Given the description of an element on the screen output the (x, y) to click on. 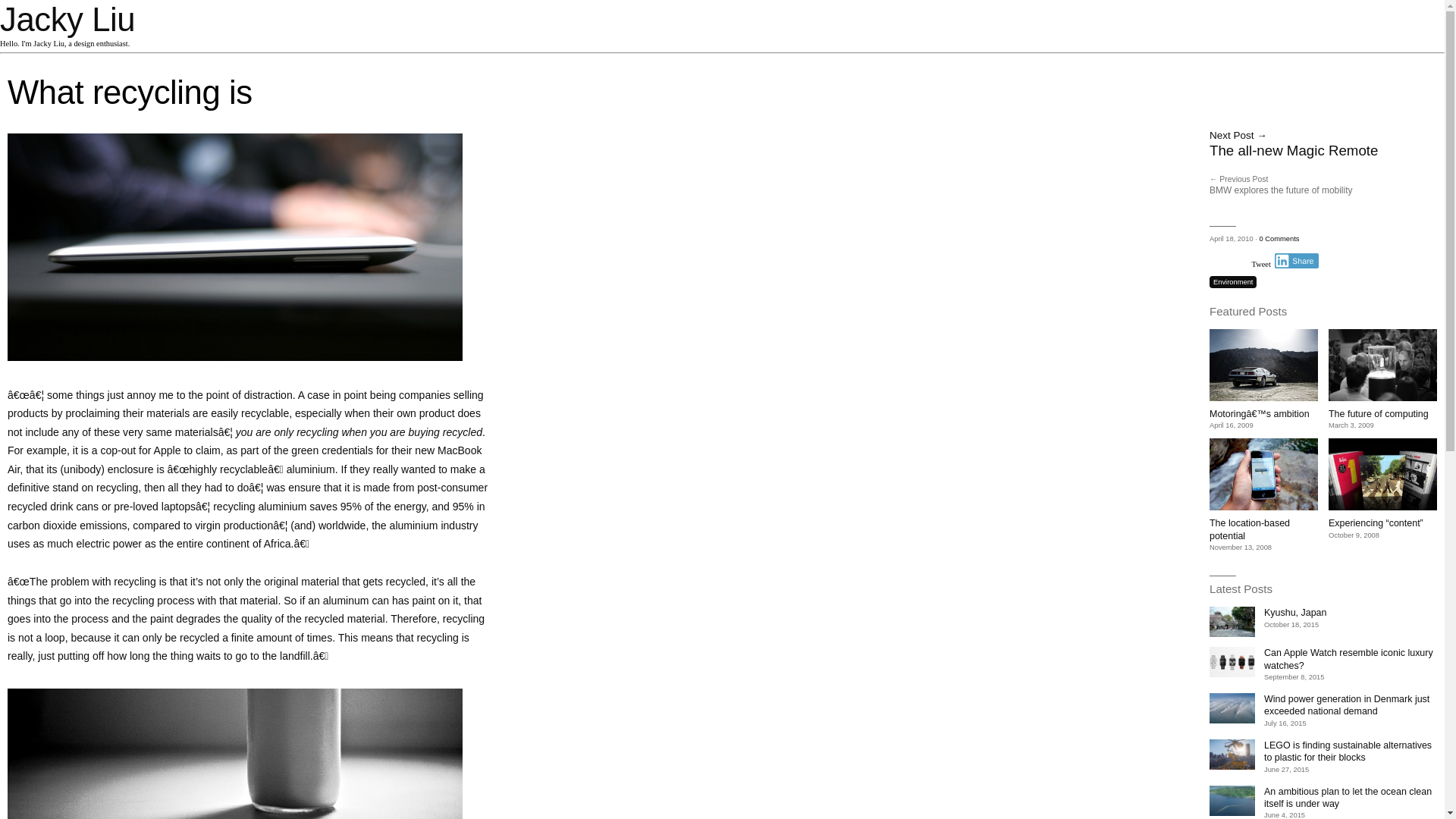
Tweet (1261, 264)
Kyushu, Japan (1294, 612)
The future of computing (1377, 413)
Can Apple Watch resemble iconic luxury watches? (1347, 658)
0 Comments (1278, 238)
Environment (1232, 281)
Share (1297, 260)
The location-based potential (1249, 528)
